Given the description of an element on the screen output the (x, y) to click on. 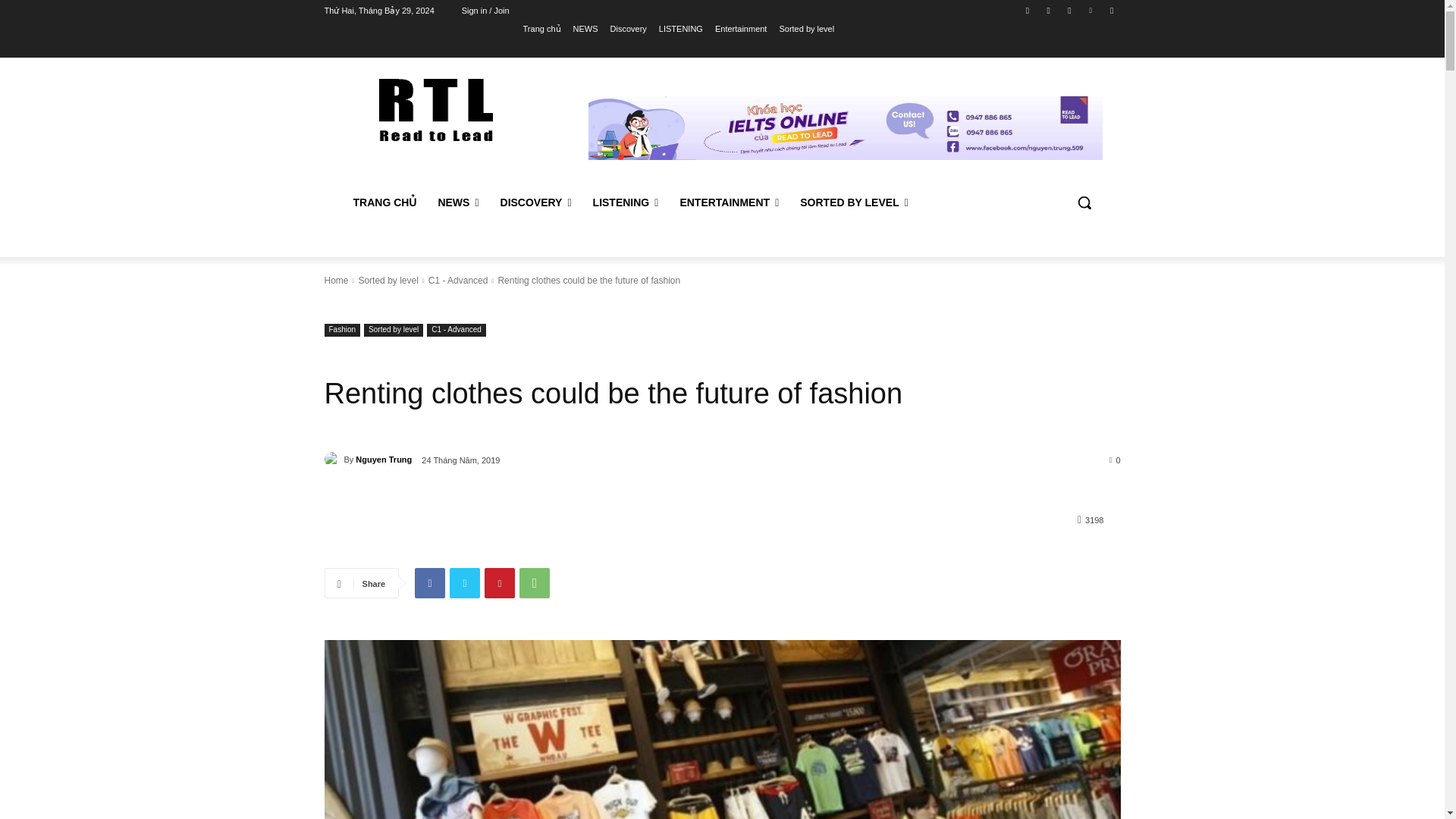
Facebook (1027, 9)
LISTENING (681, 28)
Sorted by level (806, 28)
Read too lead (435, 109)
Twitter (1069, 9)
NEWS (585, 28)
Vimeo (1090, 9)
Youtube (1112, 9)
Entertainment (740, 28)
Instagram (1048, 9)
Discovery (628, 28)
Read too lead (435, 109)
